Given the description of an element on the screen output the (x, y) to click on. 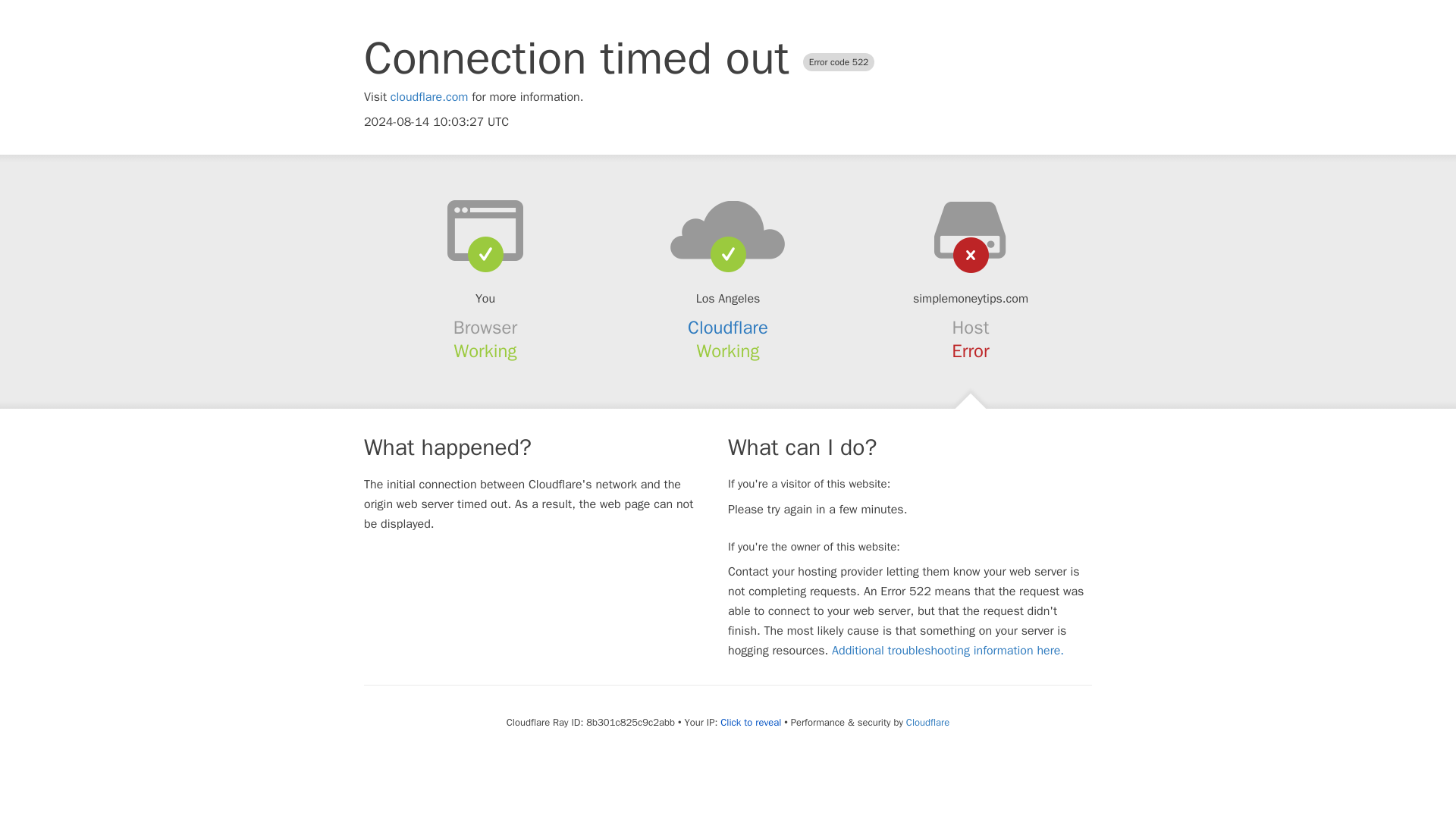
Additional troubleshooting information here. (947, 650)
cloudflare.com (429, 96)
Cloudflare (727, 327)
Click to reveal (750, 722)
Cloudflare (927, 721)
